Given the description of an element on the screen output the (x, y) to click on. 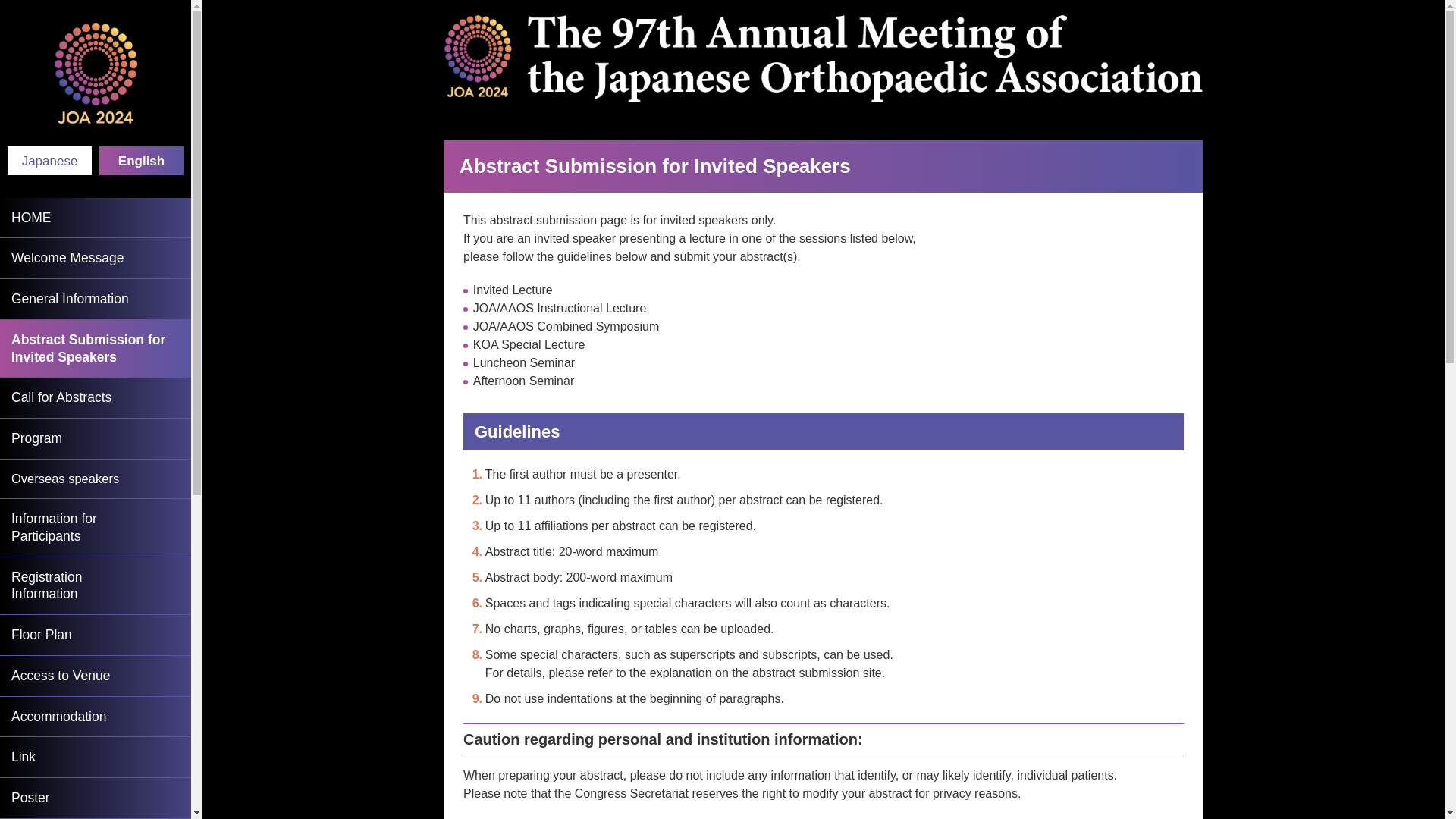
Program (95, 438)
Abstract Submission for Invited Speakers (95, 586)
Link (95, 349)
Poster (95, 757)
Welcome Message (95, 798)
Japanese (95, 258)
HOME (49, 160)
Accommodation (95, 217)
Call for Abstracts (95, 527)
Overseas speakers (95, 716)
General Information (95, 397)
Access to Venue (95, 478)
